Given the description of an element on the screen output the (x, y) to click on. 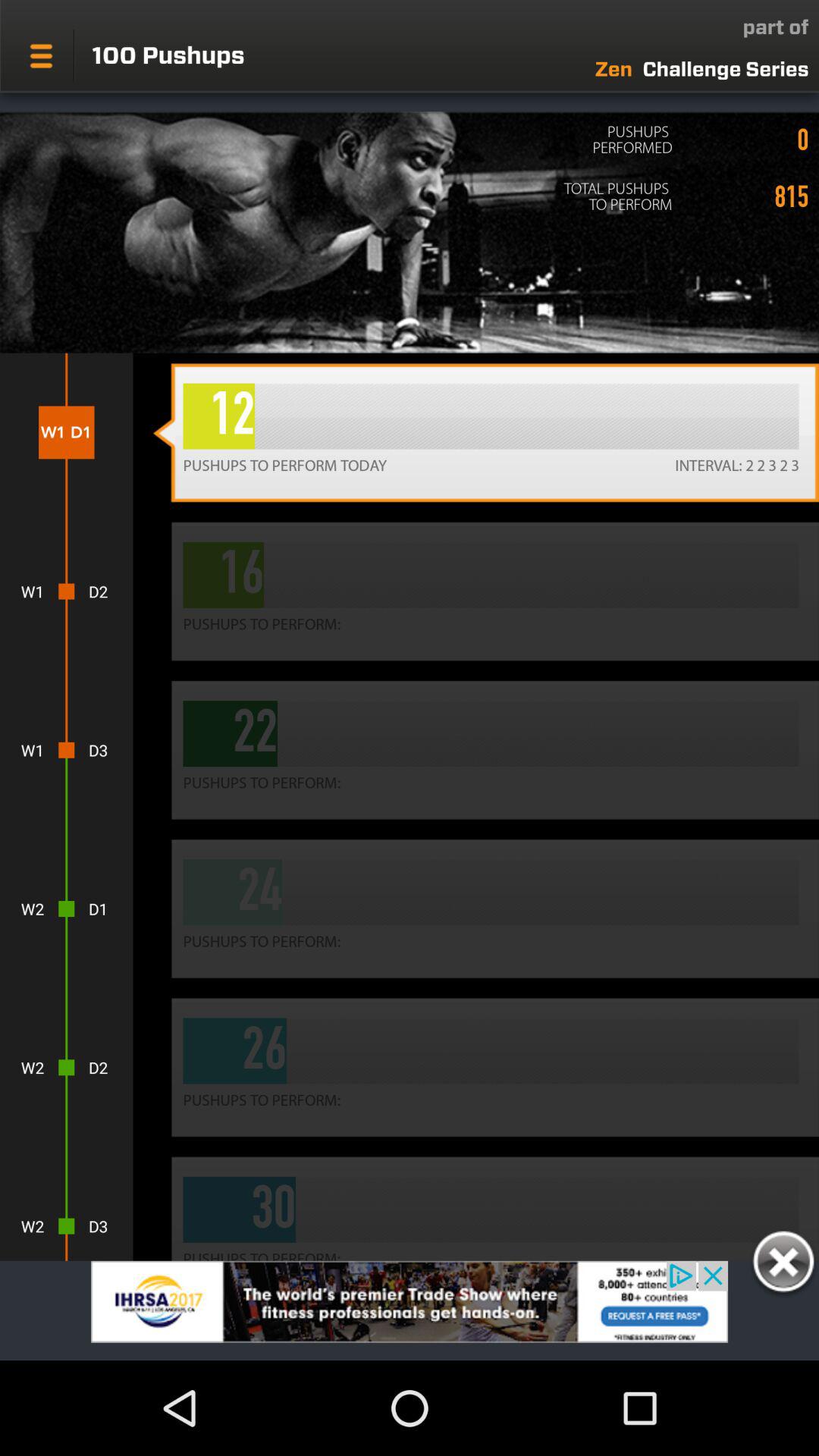
close (783, 1264)
